Given the description of an element on the screen output the (x, y) to click on. 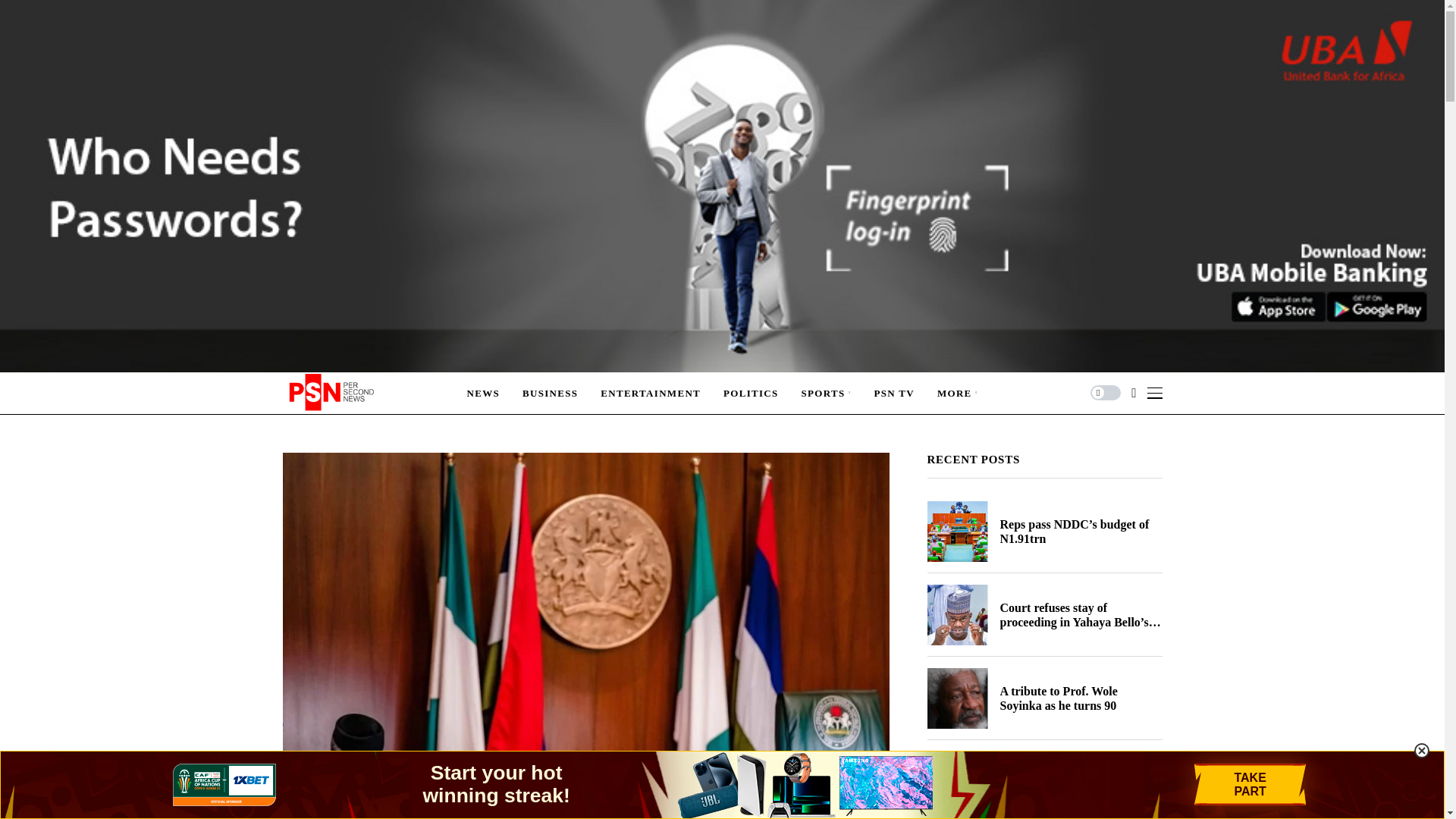
BUSINESS (550, 393)
POLITICS (750, 393)
PSN TV (893, 393)
SPORTS (826, 393)
ENTERTAINMENT (649, 393)
MORE (957, 393)
